Given the description of an element on the screen output the (x, y) to click on. 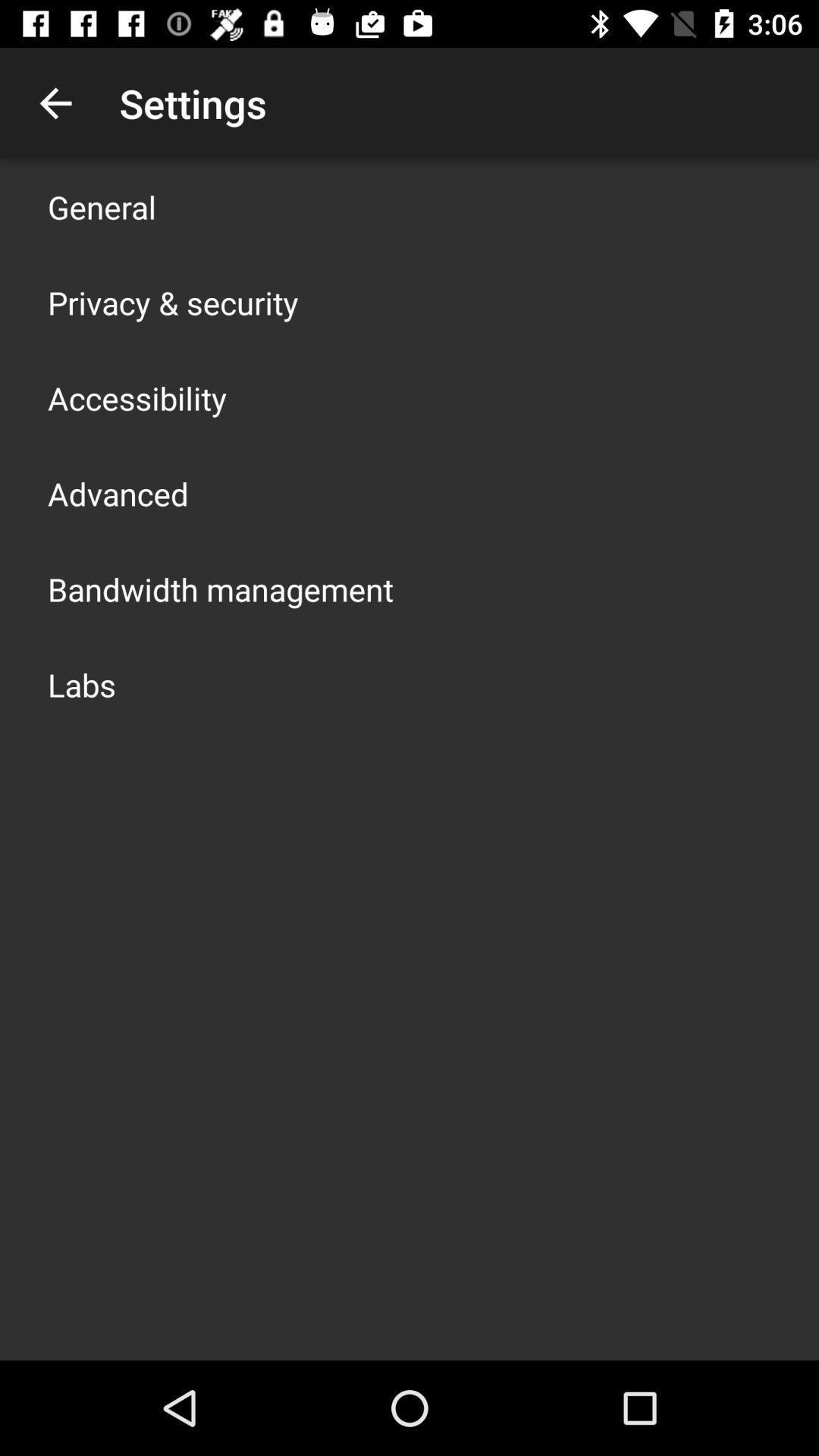
swipe until advanced (117, 493)
